Given the description of an element on the screen output the (x, y) to click on. 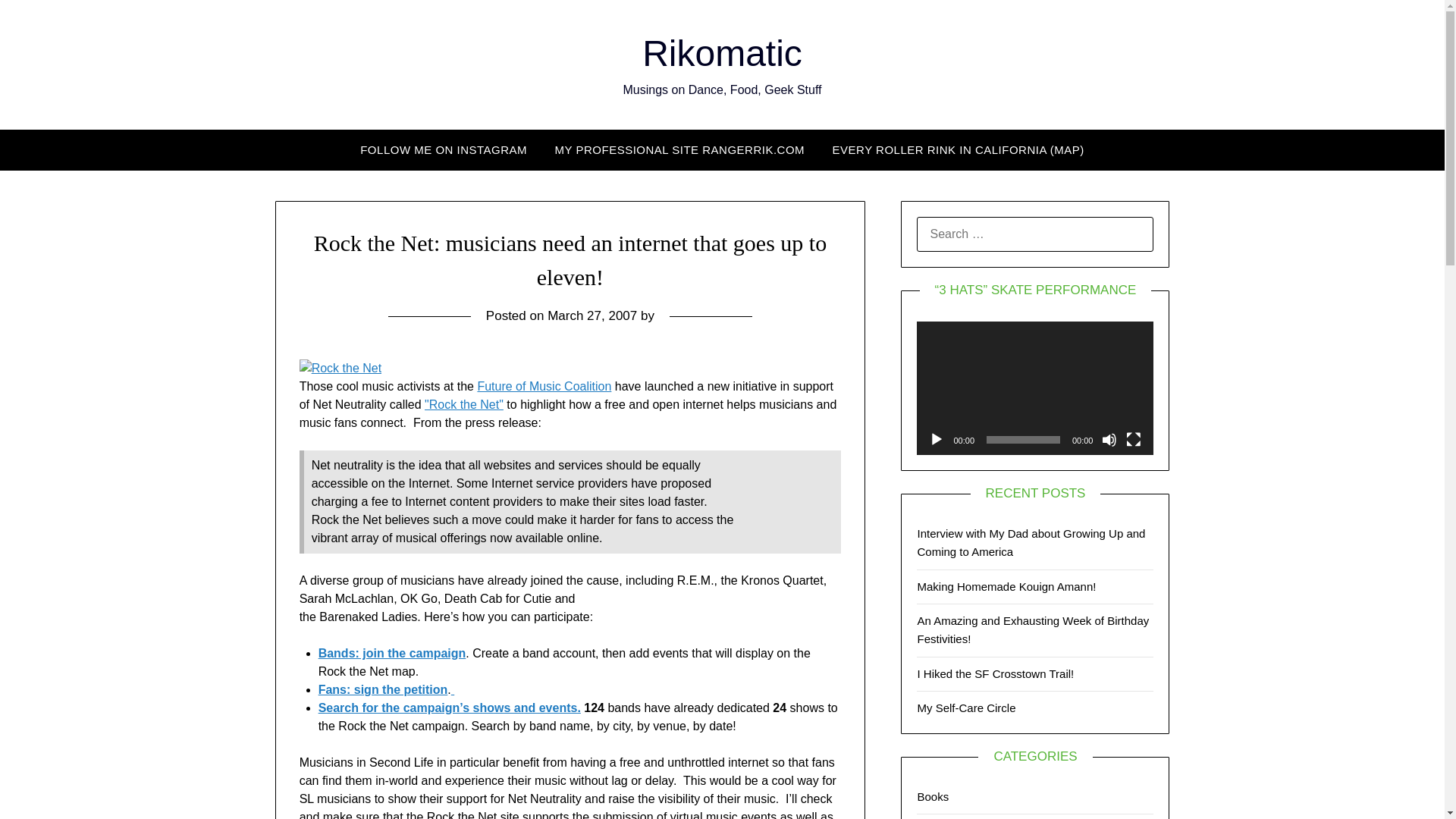
Bands: join the campaign (391, 653)
Play (935, 439)
"Rock the Net" (464, 404)
Rikomatic (722, 53)
Fullscreen (1133, 439)
Future of Music Coalition (544, 386)
Mute (1109, 439)
March 27, 2007 (592, 315)
MY PROFESSIONAL SITE RANGERRIK.COM (679, 149)
Fans: sign the petition (383, 689)
FOLLOW ME ON INSTAGRAM (442, 149)
Search (38, 22)
